Given the description of an element on the screen output the (x, y) to click on. 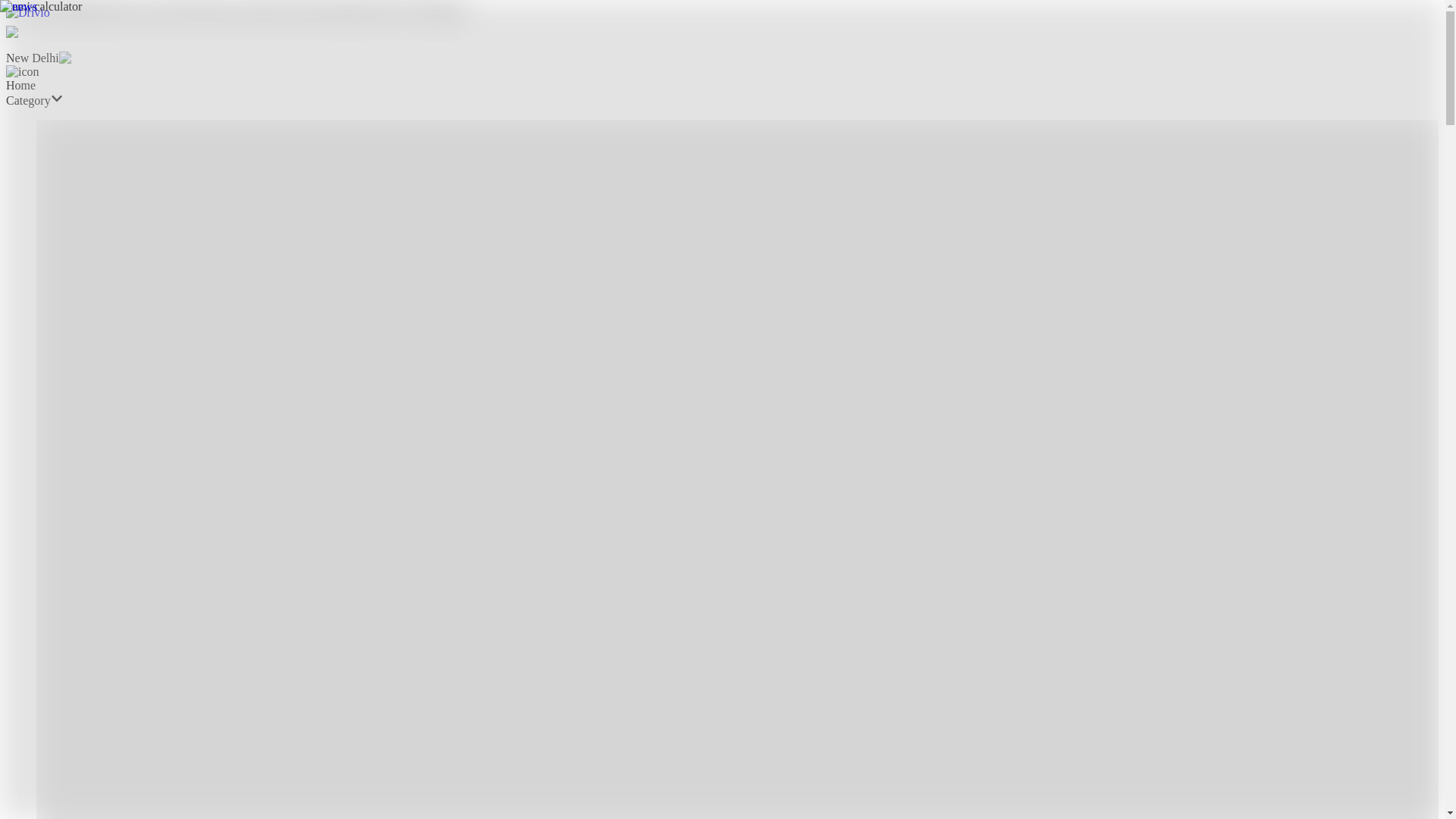
Drivio (46, 13)
location (22, 71)
Location (43, 32)
City (89, 58)
